Given the description of an element on the screen output the (x, y) to click on. 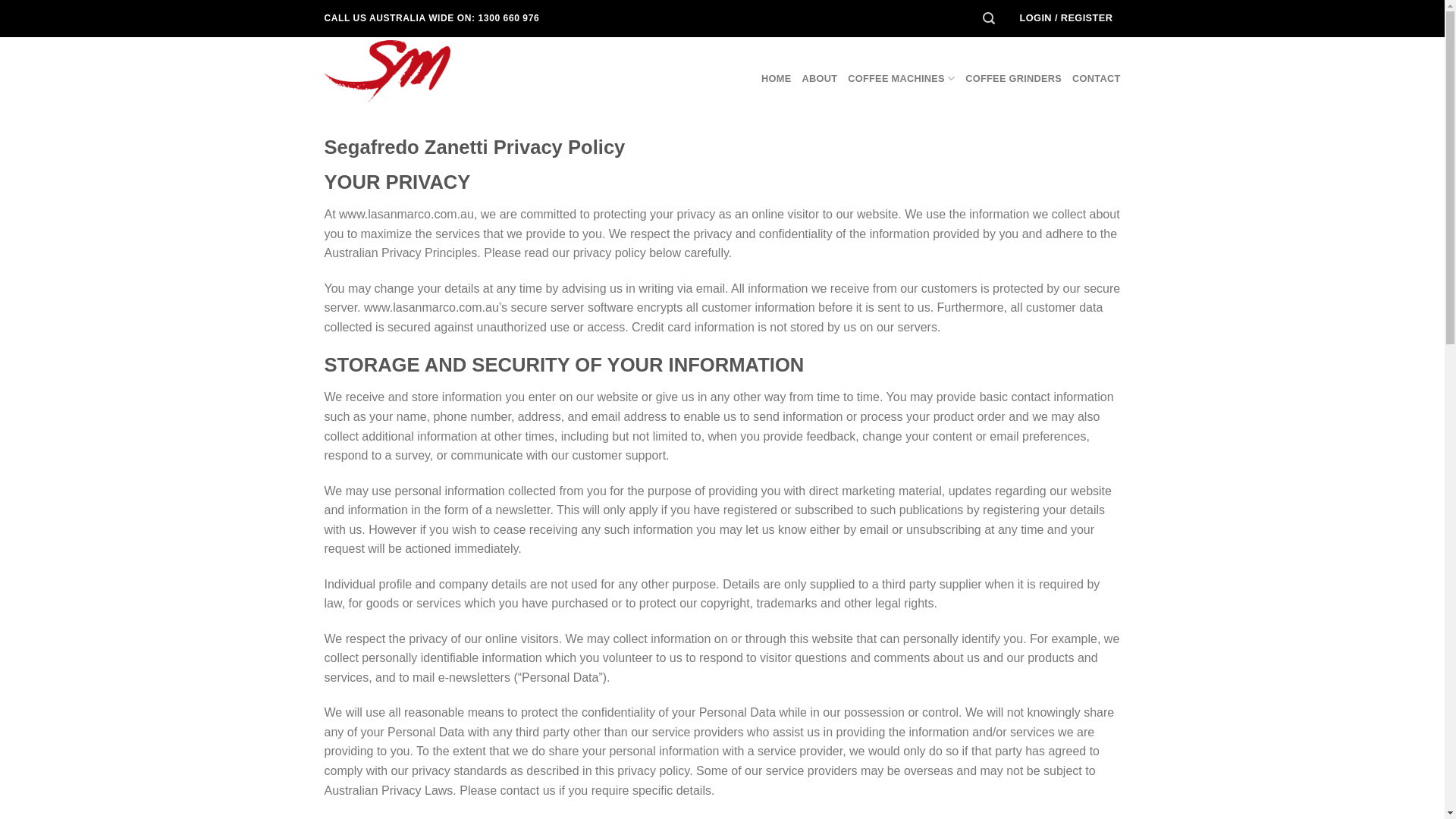
COFFEE GRINDERS Element type: text (1013, 78)
LOGIN / REGISTER Element type: text (1066, 18)
COFFEE MACHINES Element type: text (900, 78)
La San Marco Australia - Coffee Equipment Element type: hover (400, 70)
ABOUT Element type: text (819, 78)
HOME Element type: text (775, 78)
CONTACT Element type: text (1096, 78)
